Given the description of an element on the screen output the (x, y) to click on. 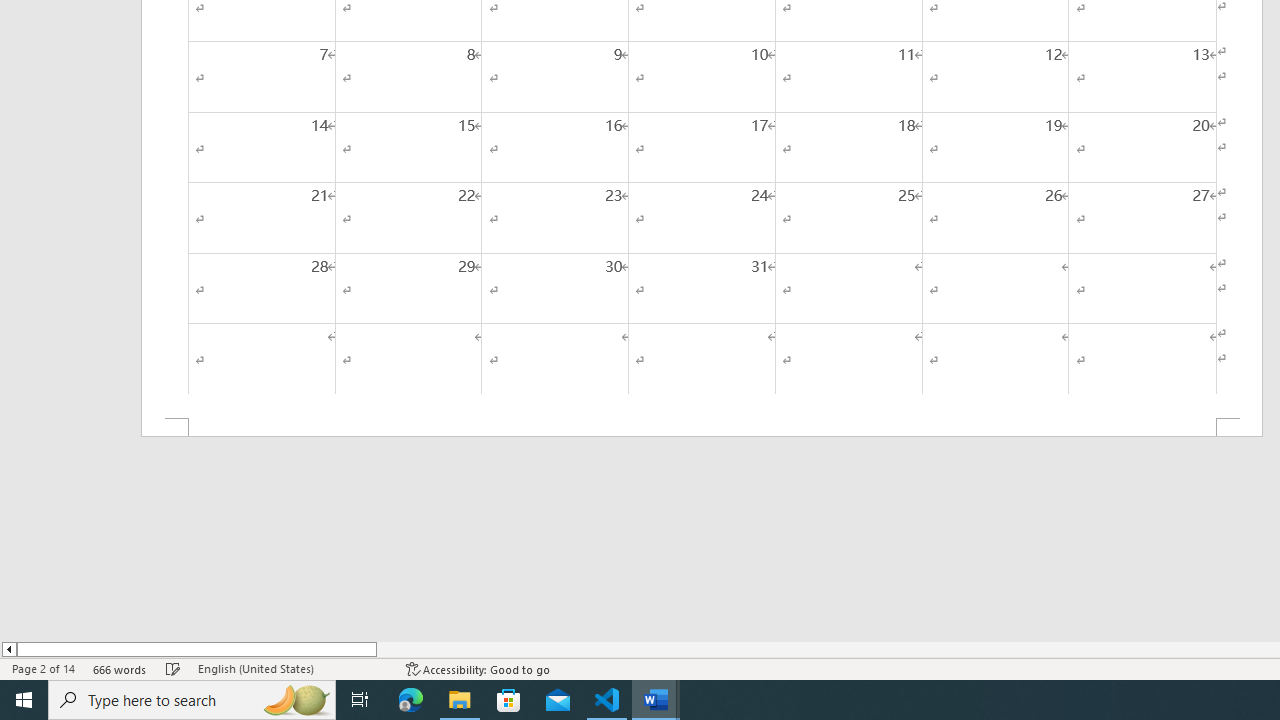
Column left (8, 649)
Word Count 666 words (119, 668)
Page Number Page 2 of 14 (43, 668)
